Given the description of an element on the screen output the (x, y) to click on. 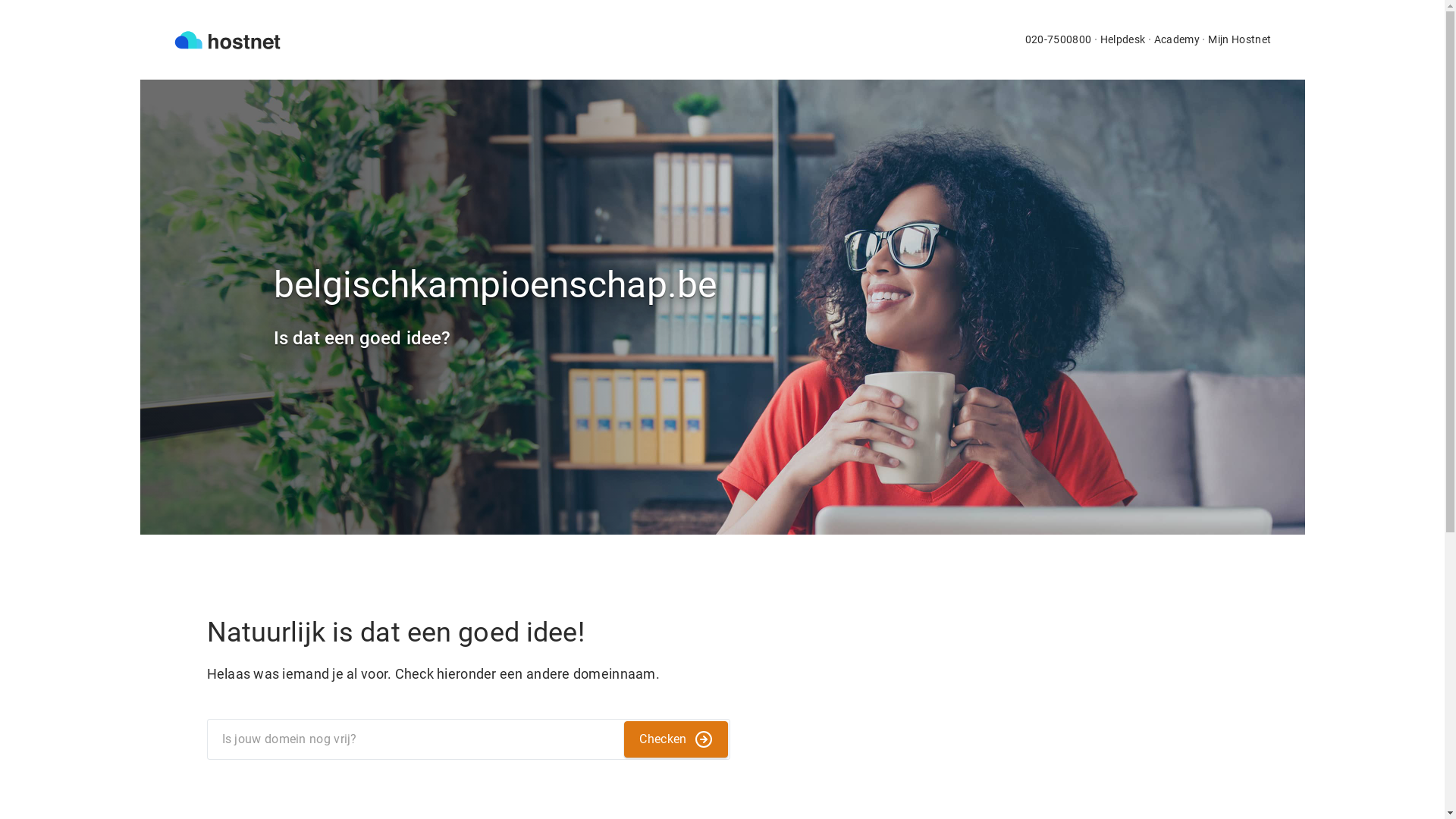
Helpdesk Element type: text (1122, 39)
Academy Element type: text (1176, 39)
Domeinregistratie en hosting bij Hostnet.nl Element type: hover (226, 39)
Mijn Hostnet Element type: text (1239, 39)
Checken Element type: text (675, 739)
